Given the description of an element on the screen output the (x, y) to click on. 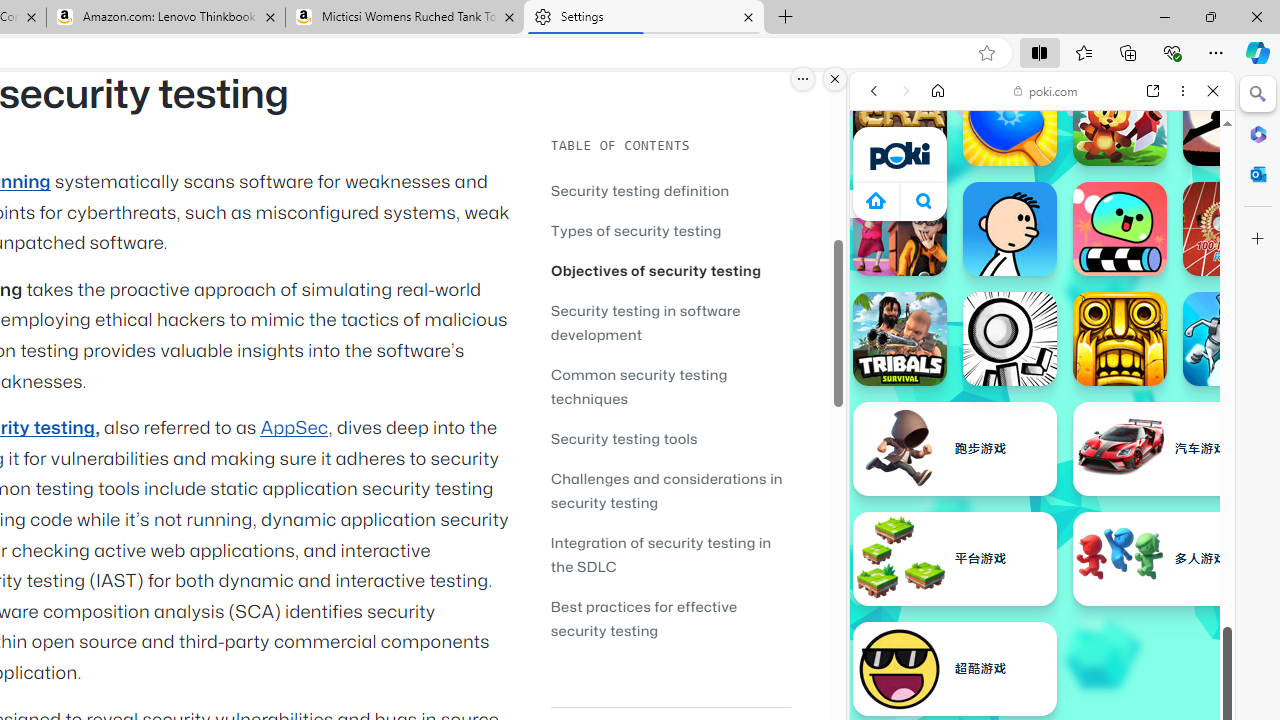
Blumgi Slime Blumgi Slime (1119, 228)
Era: Evolution (899, 119)
Sports Games (1042, 666)
Integration of security testing in the SDLC (670, 553)
Common security testing techniques (639, 385)
Blumgi Slime (1119, 228)
More options. (803, 79)
Tribals.io (899, 338)
Car Games (1042, 470)
The Speed Ninja (1229, 119)
